Given the description of an element on the screen output the (x, y) to click on. 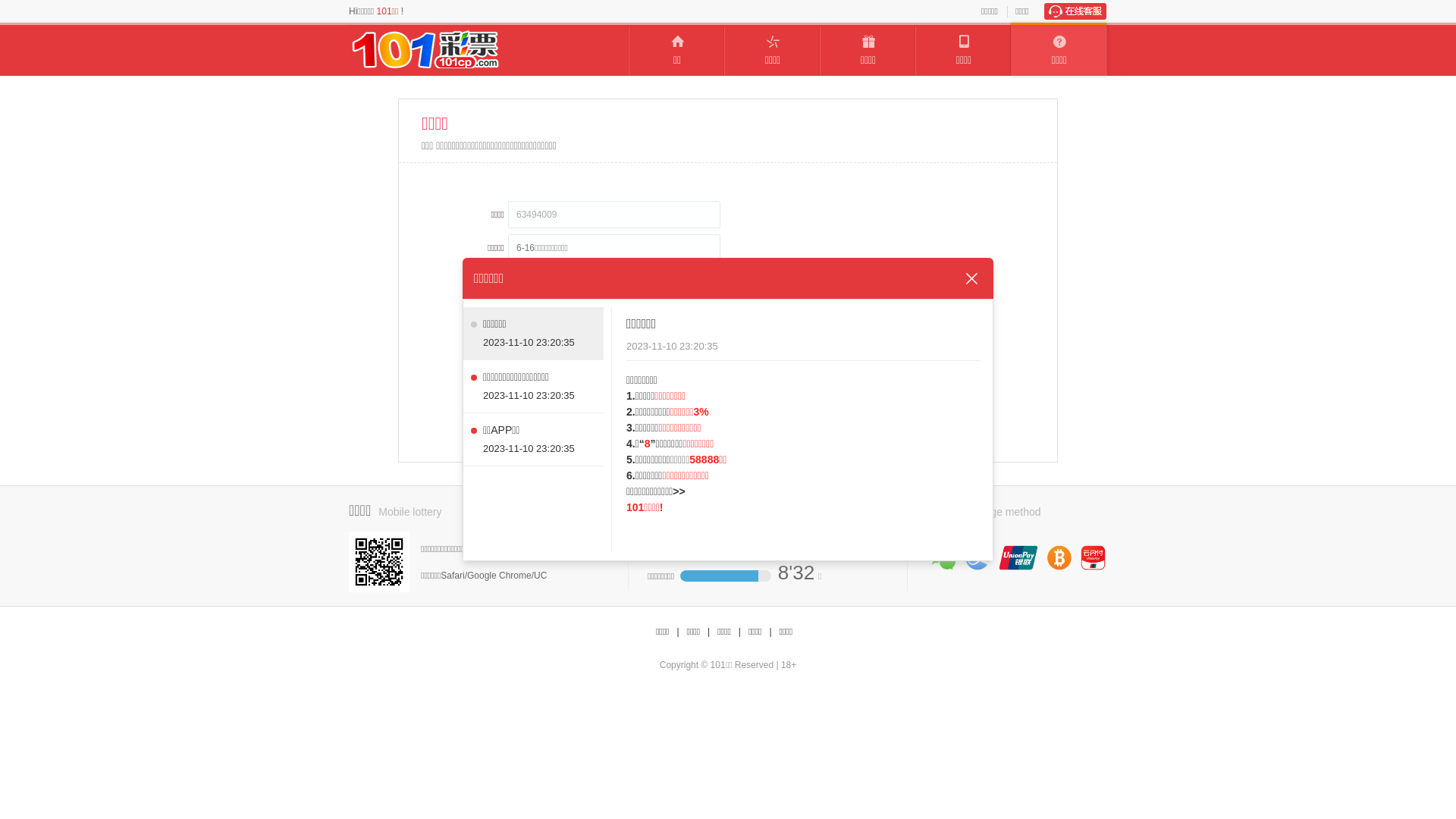
| Element type: text (677, 631)
| Element type: text (769, 631)
| Element type: text (739, 631)
| Element type: text (708, 631)
